Given the description of an element on the screen output the (x, y) to click on. 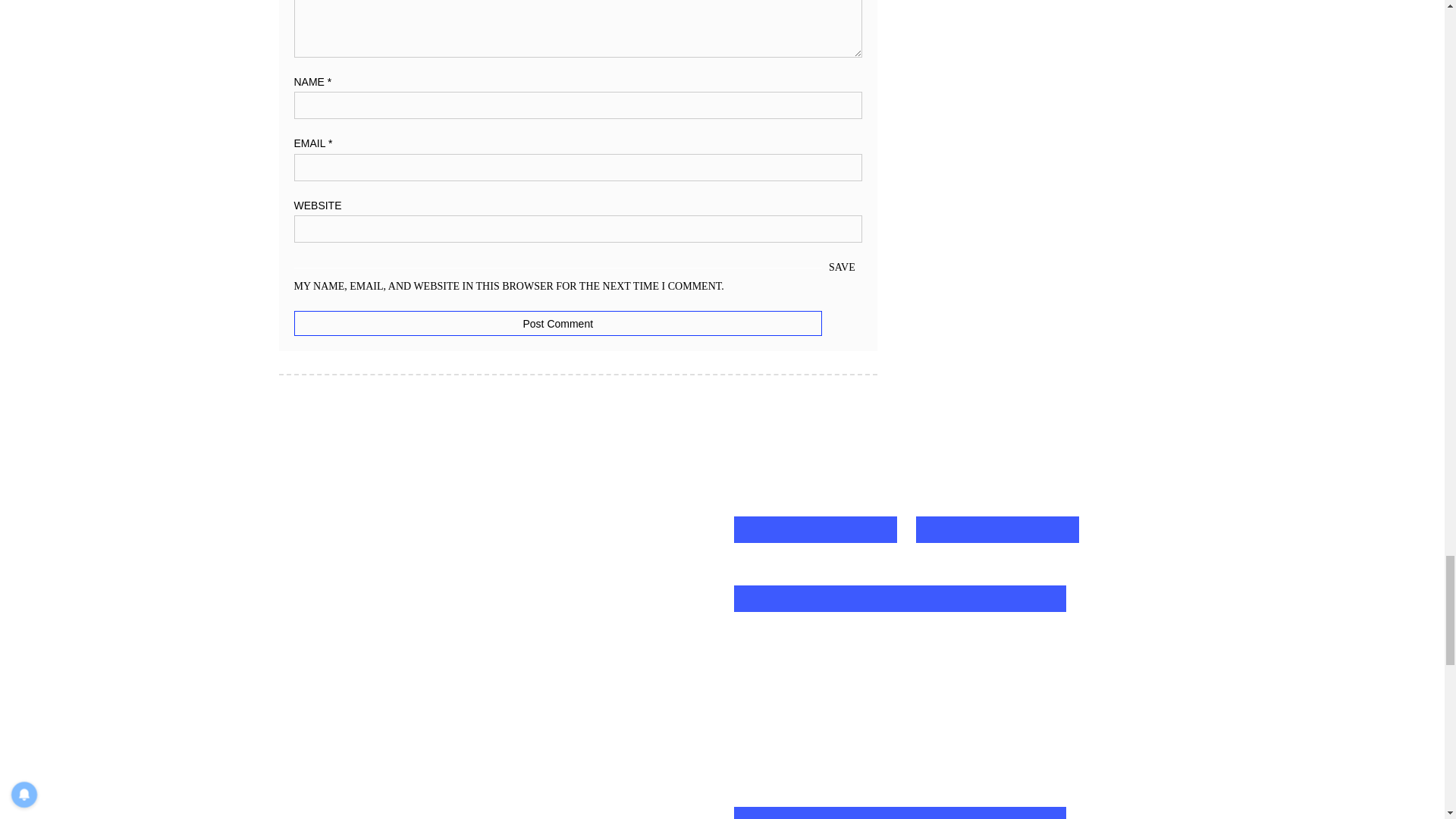
Post Comment (558, 323)
